Given the description of an element on the screen output the (x, y) to click on. 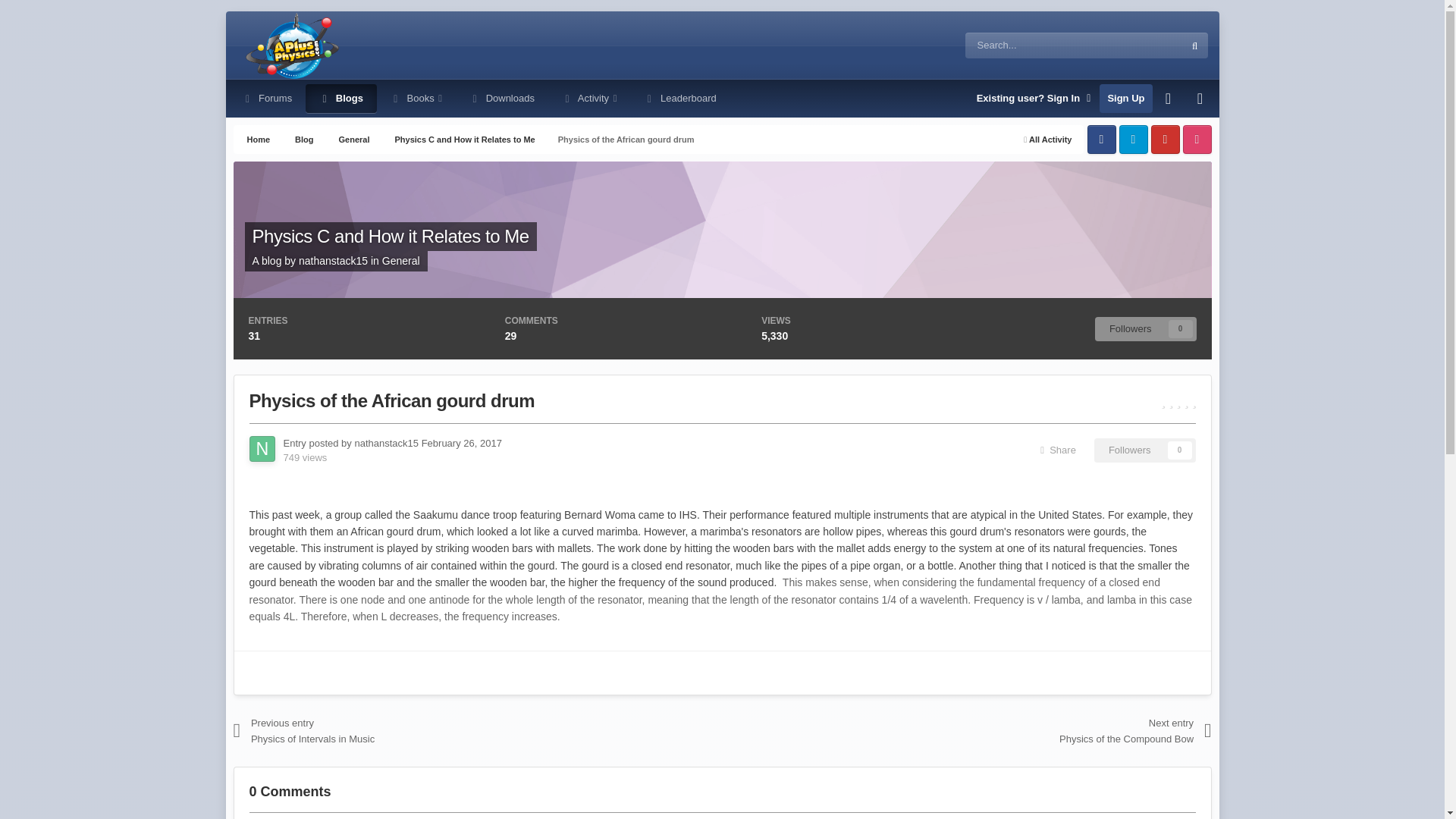
Activity (589, 98)
Existing user? Sign In   (1034, 98)
Downloads (501, 98)
Sign in to follow this (1145, 328)
Customizer (1169, 98)
Home (257, 139)
Go to the blog Physics C and How it Relates to Me (389, 236)
Sign in to follow this (1144, 450)
Change Color (1200, 98)
Books (416, 98)
Go to nathanstack15's profile (386, 442)
Forums (266, 98)
Go to nathanstack15's profile (333, 260)
Leaderboard (679, 98)
Go to nathanstack15's profile (261, 448)
